Given the description of an element on the screen output the (x, y) to click on. 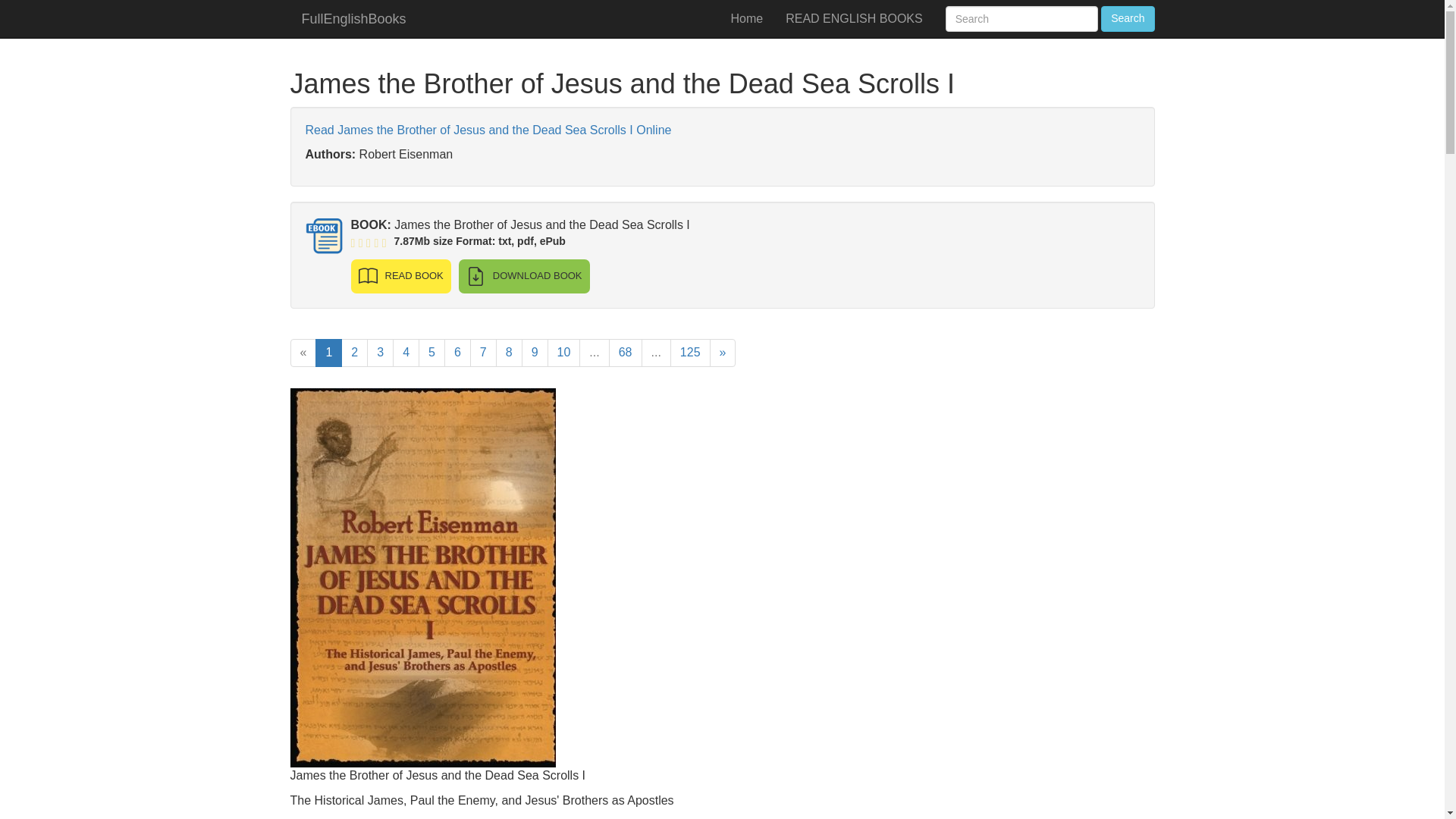
5 (432, 352)
3 (379, 352)
7 (483, 352)
125 (689, 352)
9 (534, 352)
10 (563, 352)
READ BOOK (399, 276)
6 (457, 352)
8 (509, 352)
1 (328, 352)
